Given the description of an element on the screen output the (x, y) to click on. 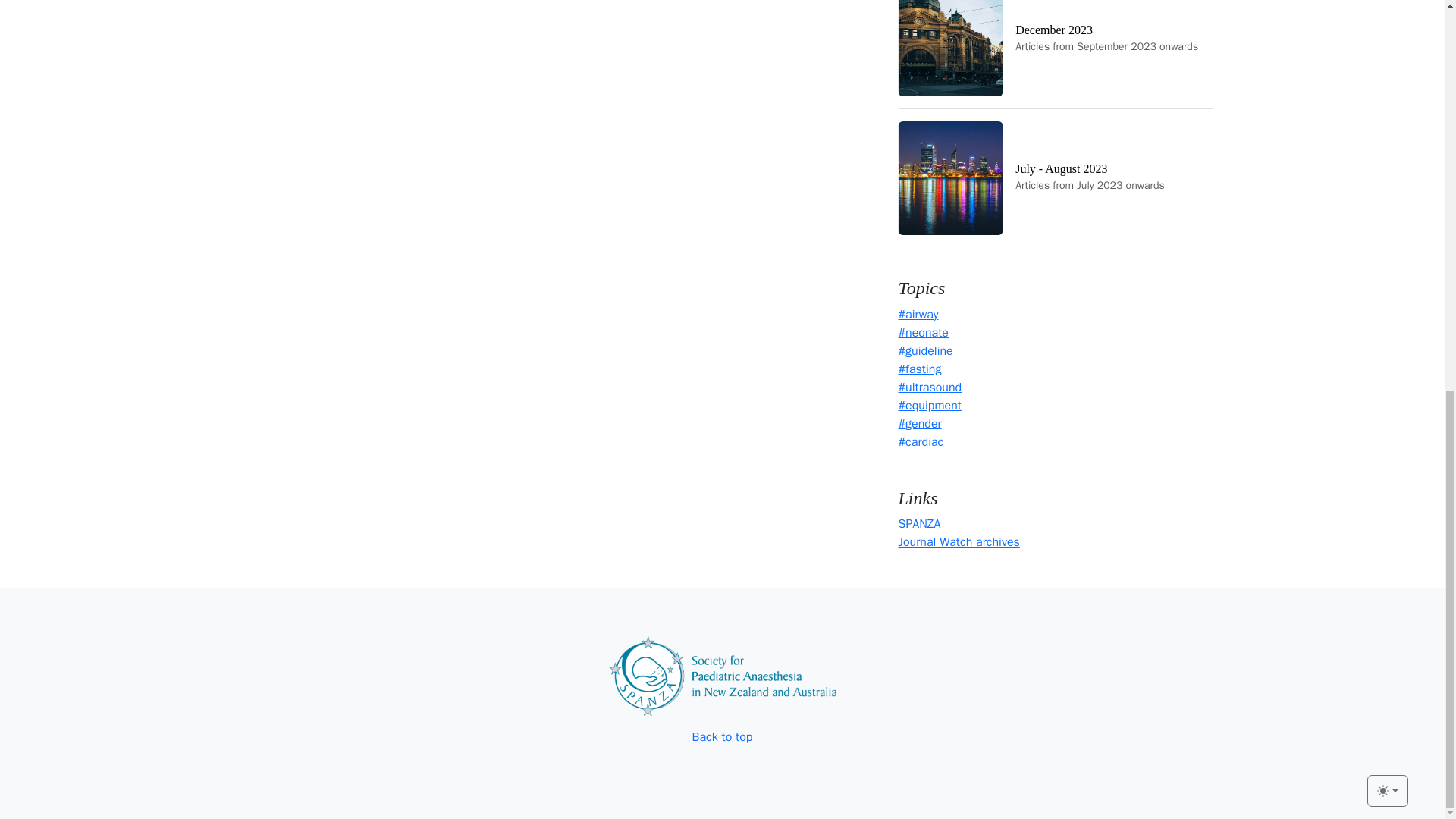
Journal Watch archives (958, 541)
Back to top (1055, 177)
SPANZA (722, 736)
Toggle theme (919, 523)
